Given the description of an element on the screen output the (x, y) to click on. 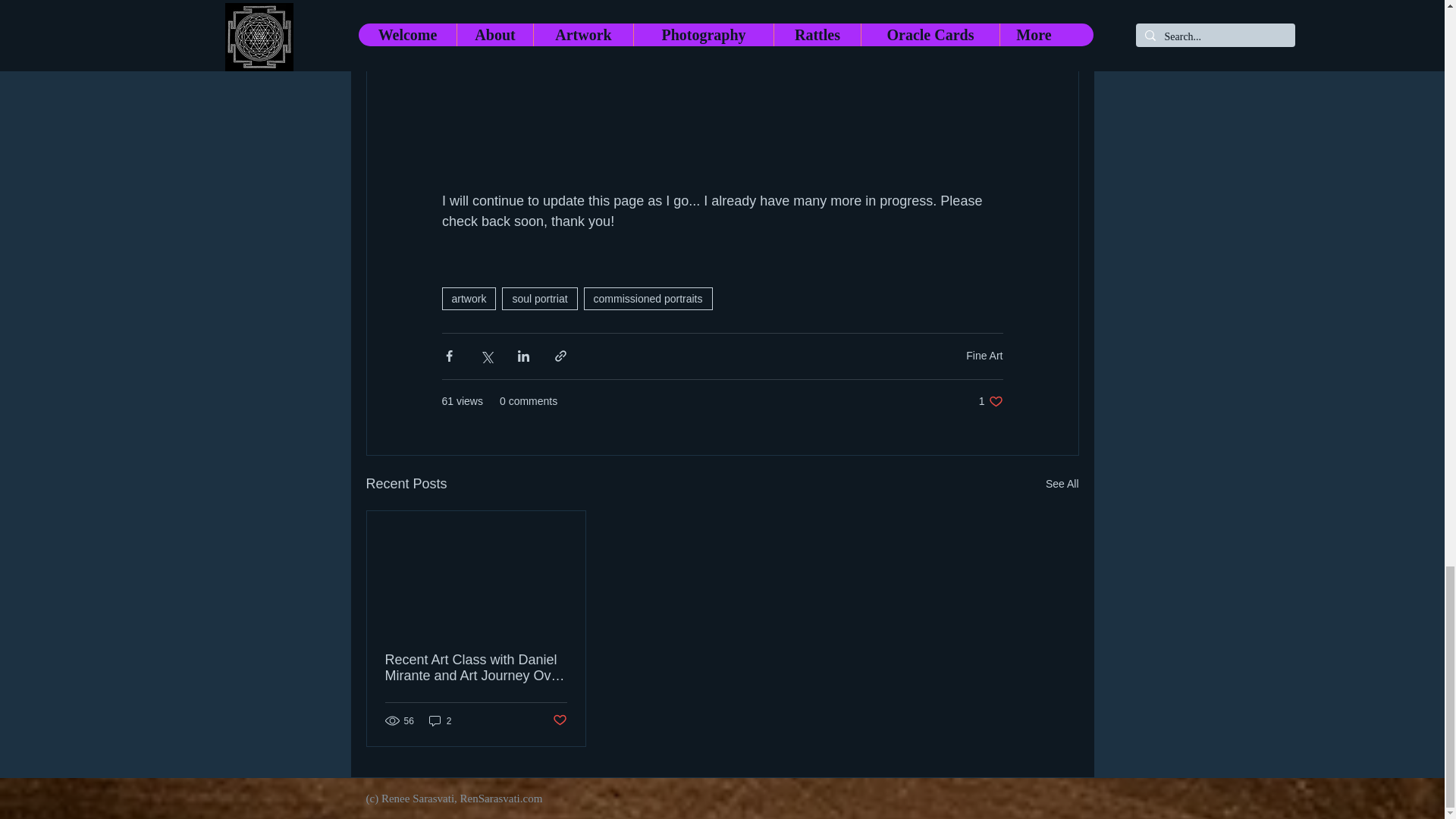
artwork (468, 298)
commissioned portraits (648, 298)
Fine Art (984, 355)
soul portriat (539, 298)
